Given the description of an element on the screen output the (x, y) to click on. 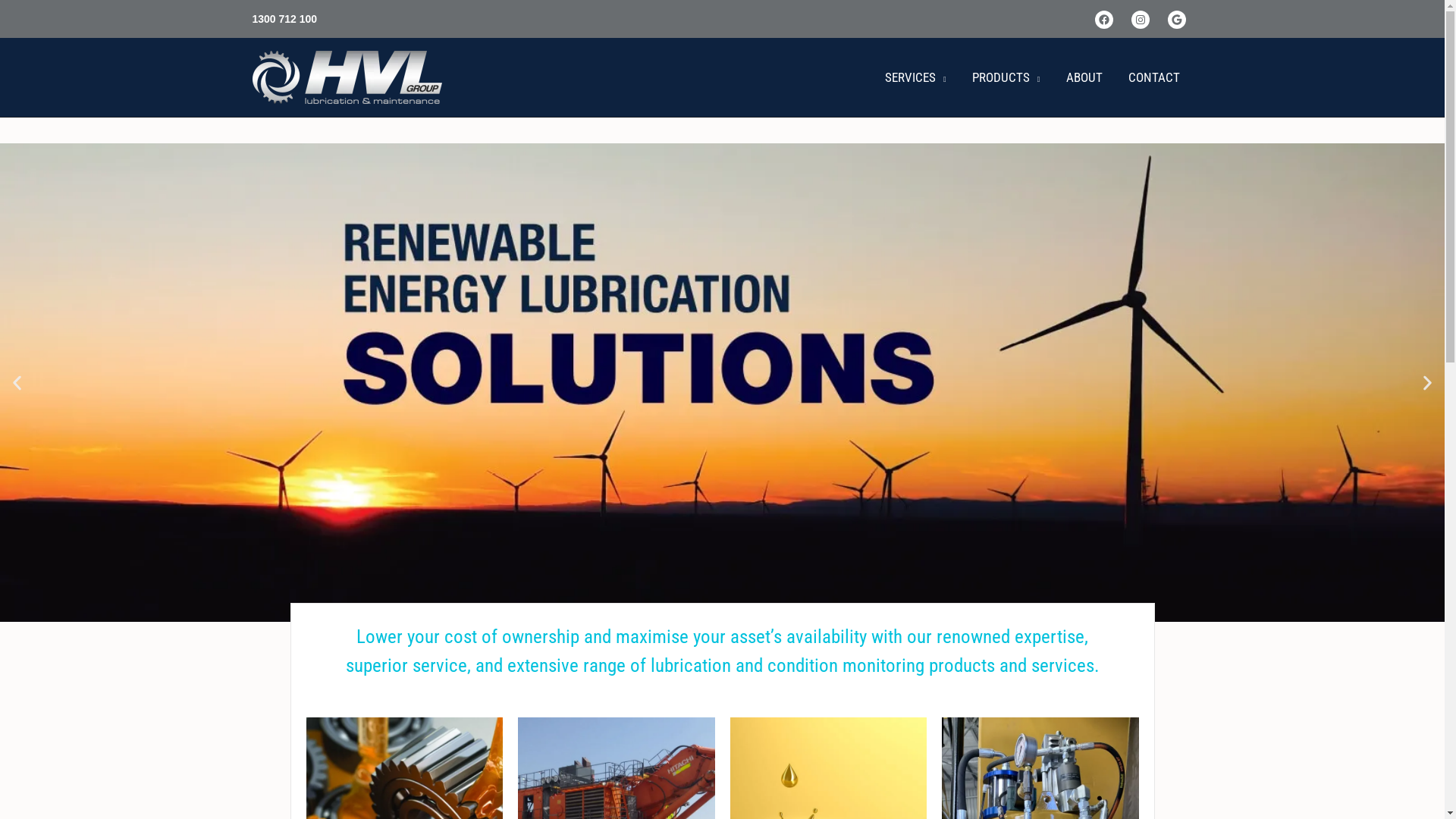
ABOUT Element type: text (1083, 76)
1300 712 100 Element type: text (283, 18)
SERVICES Element type: text (915, 76)
Instagram Element type: text (1140, 19)
Google Element type: text (1176, 19)
CONTACT Element type: text (1153, 76)
Facebook Element type: text (1104, 19)
PRODUCTS Element type: text (1006, 76)
